Given the description of an element on the screen output the (x, y) to click on. 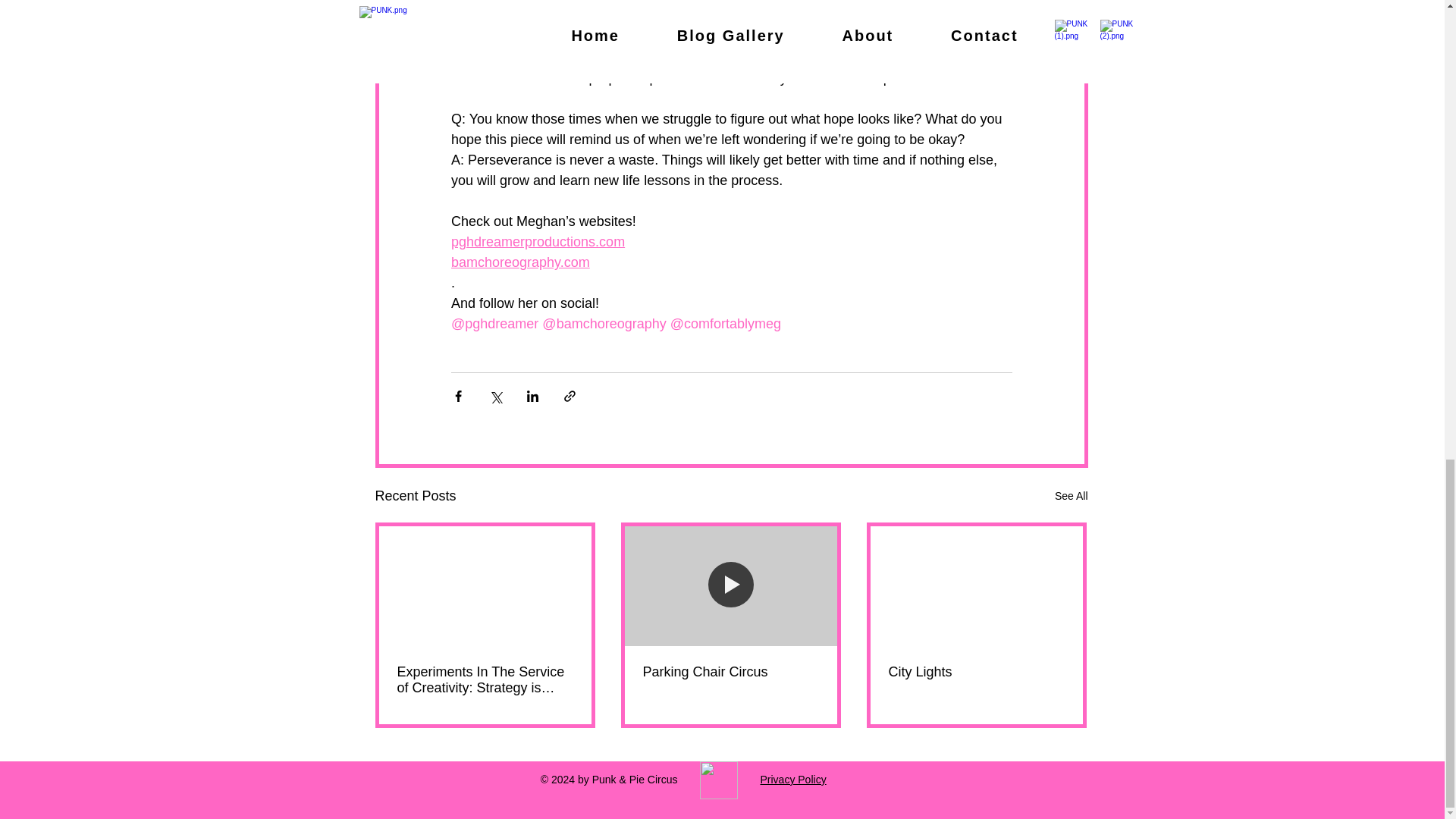
pghdreamerproductions.com (536, 241)
Privacy Policy (792, 779)
See All (1070, 495)
bamchoreography.com (519, 262)
City Lights (976, 672)
Parking Chair Circus (730, 672)
